Given the description of an element on the screen output the (x, y) to click on. 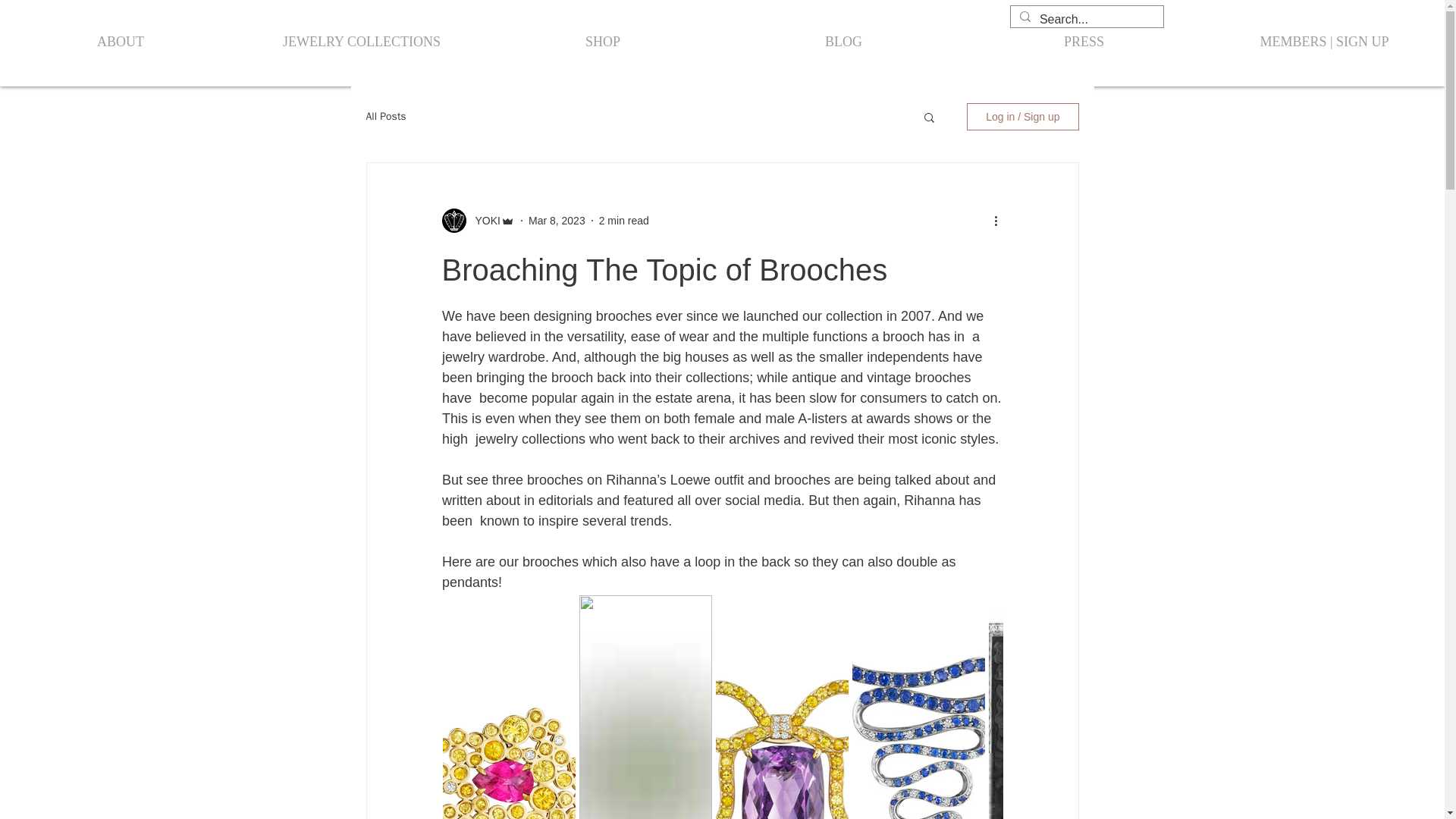
BLOG (843, 41)
YOKI (482, 220)
SHOP (602, 41)
ABOUT (120, 41)
PRESS (1083, 41)
All Posts (385, 116)
Mar 8, 2023 (556, 219)
JEWELRY COLLECTIONS (361, 41)
2 min read (623, 219)
